Given the description of an element on the screen output the (x, y) to click on. 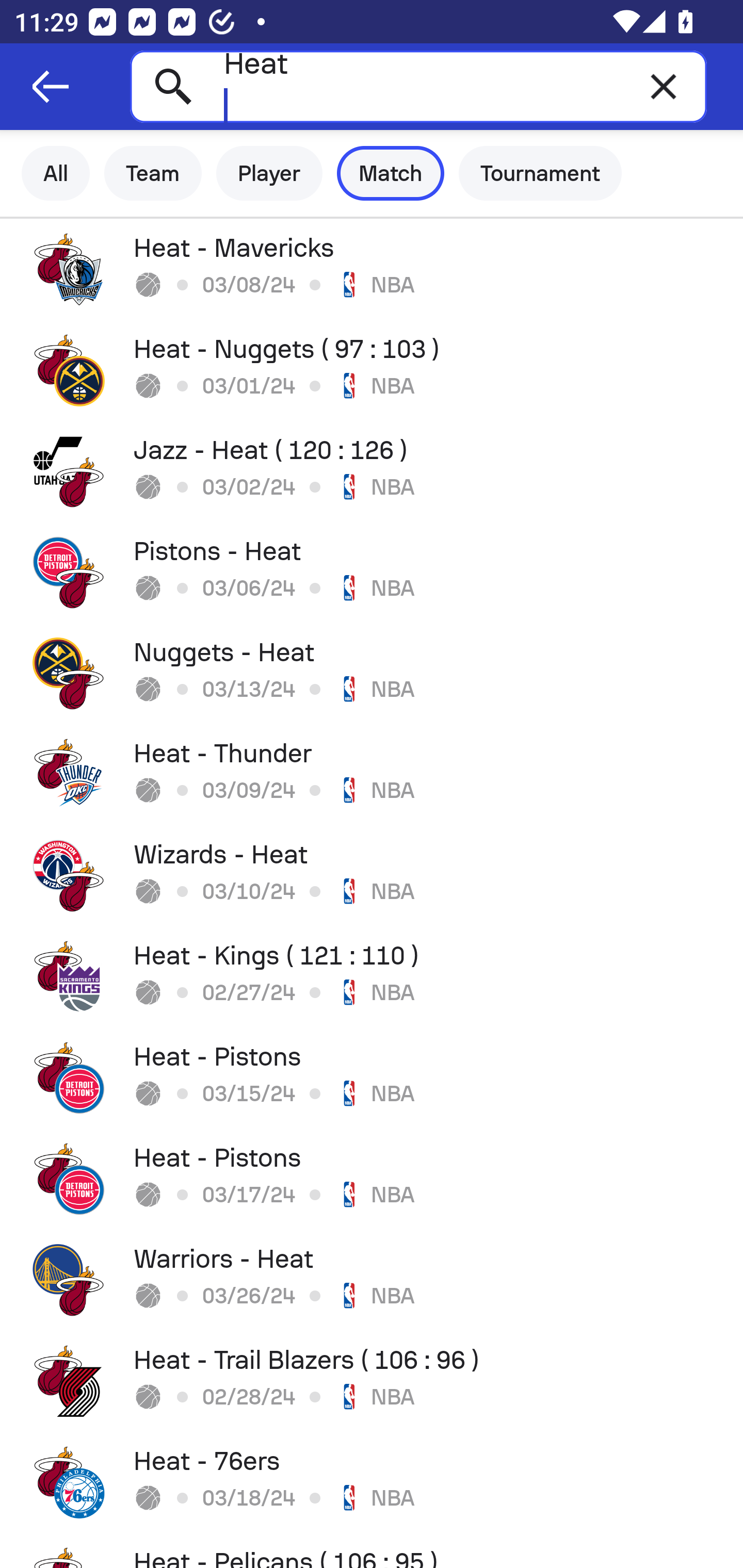
Navigate up (50, 86)
Heat
 (418, 86)
Clear text (663, 86)
All (55, 172)
Team (152, 172)
Player (268, 172)
Match (390, 172)
Tournament (540, 172)
Heat - Mavericks 03/08/24 NBA (371, 268)
Heat - Nuggets ( 97 : 103 ) 03/01/24 NBA (371, 369)
Jazz - Heat ( 120 : 126 ) 03/02/24 NBA (371, 471)
Pistons - Heat 03/06/24 NBA (371, 572)
Nuggets - Heat 03/13/24 NBA (371, 673)
Heat - Thunder 03/09/24 NBA (371, 774)
Wizards - Heat 03/10/24 NBA (371, 875)
Heat - Kings ( 121 : 110 ) 02/27/24 NBA (371, 976)
Heat - Pistons 03/15/24 NBA (371, 1077)
Heat - Pistons 03/17/24 NBA (371, 1178)
Warriors - Heat 03/26/24 NBA (371, 1280)
Heat - Trail Blazers ( 106 : 96 ) 02/28/24 NBA (371, 1381)
Heat - 76ers 03/18/24 NBA (371, 1482)
